Given the description of an element on the screen output the (x, y) to click on. 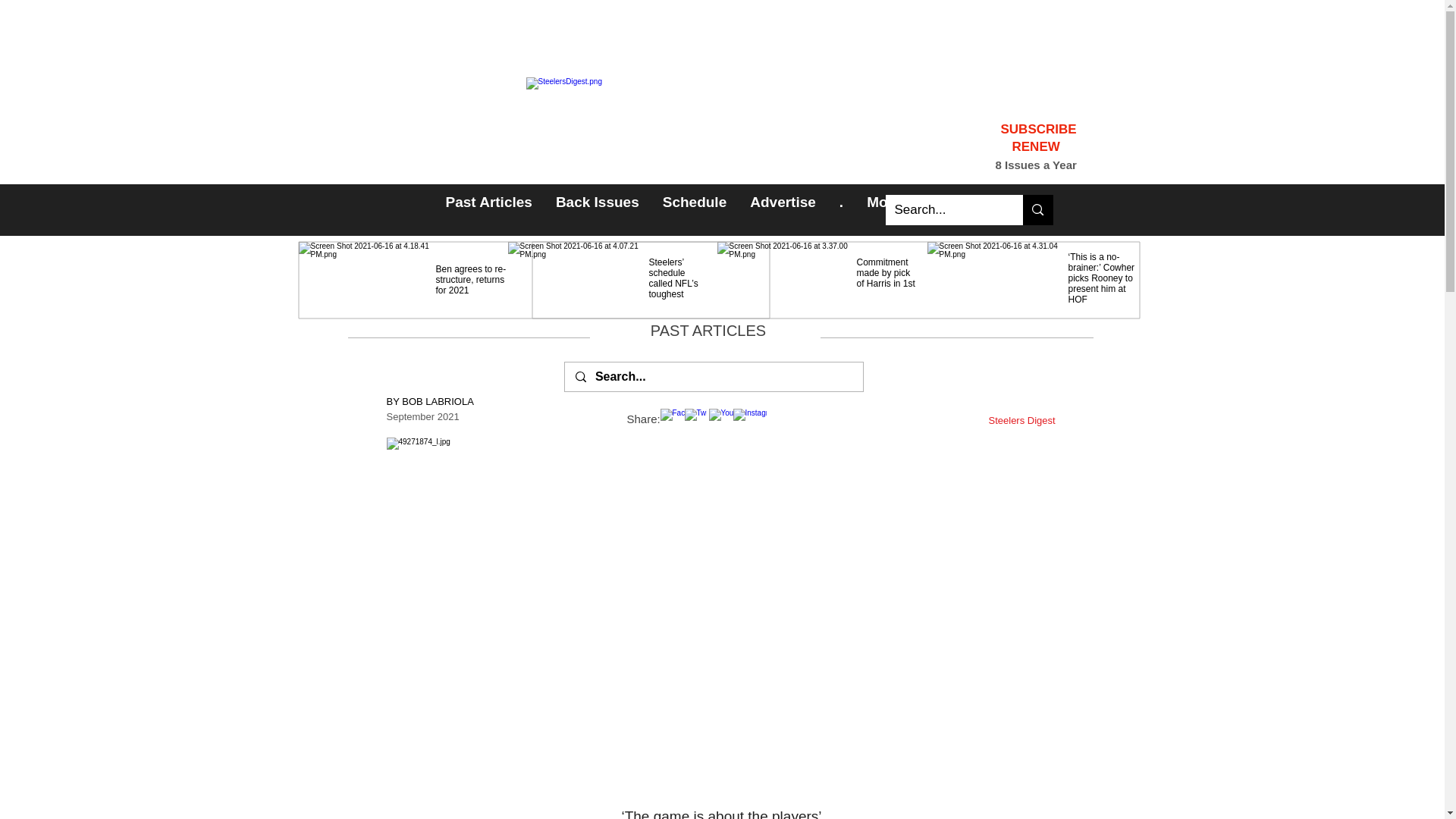
SUBSCRIBE (1039, 129)
September 2021 (423, 409)
PAST ARTICLES (707, 326)
Advertise (782, 209)
Steelers Digest (1021, 413)
Schedule (694, 209)
BY BOB LABRIOLA (430, 395)
Past Articles (488, 209)
Schedule (660, 211)
